Given the description of an element on the screen output the (x, y) to click on. 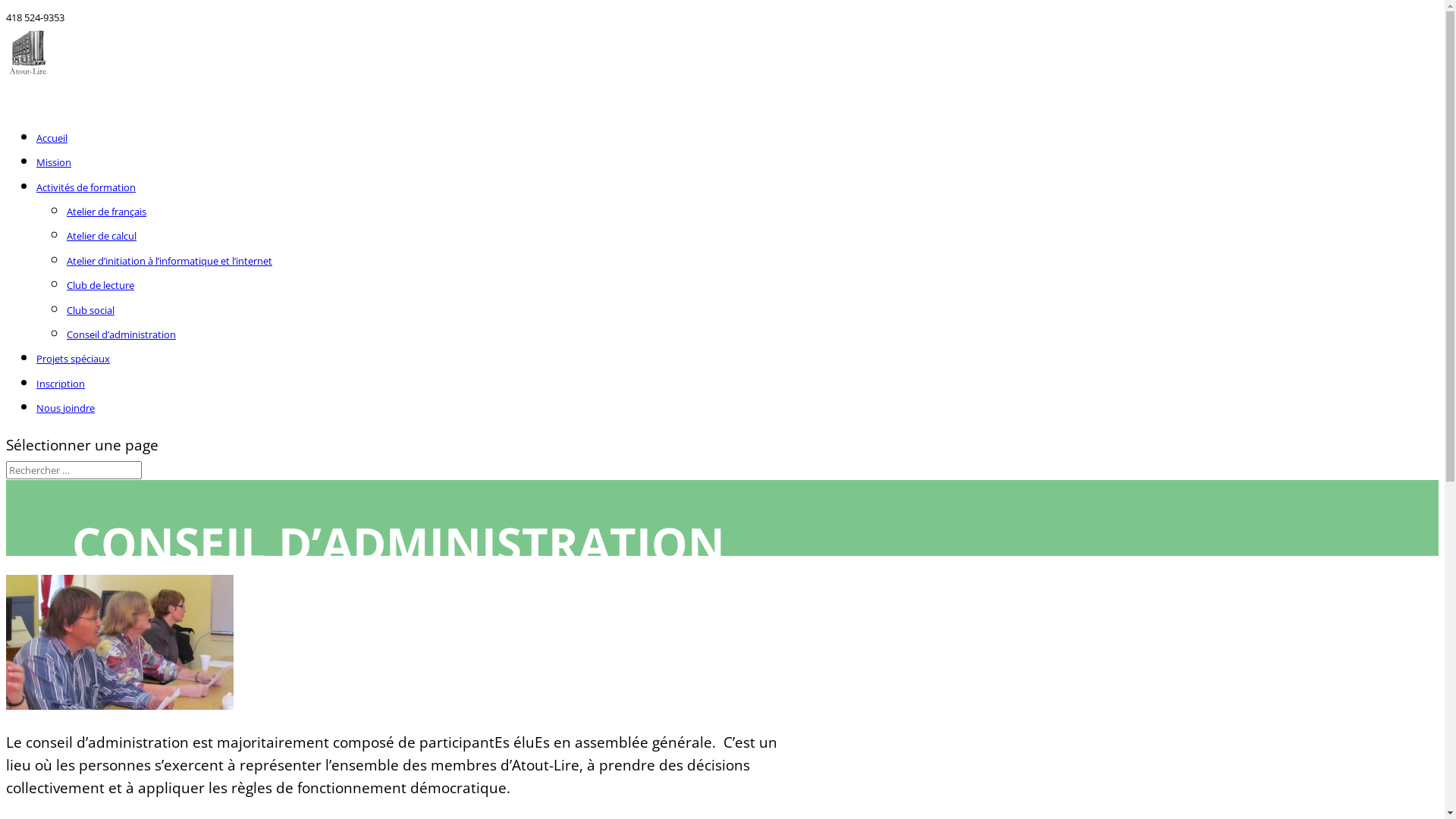
Mission Element type: text (53, 176)
Atelier de calcul Element type: text (101, 235)
Club social Element type: text (90, 309)
Nous joindre Element type: text (65, 422)
Inscription Element type: text (60, 398)
Rechercher: Element type: hover (73, 470)
Accueil Element type: text (51, 152)
Club de lecture Element type: text (100, 284)
